Given the description of an element on the screen output the (x, y) to click on. 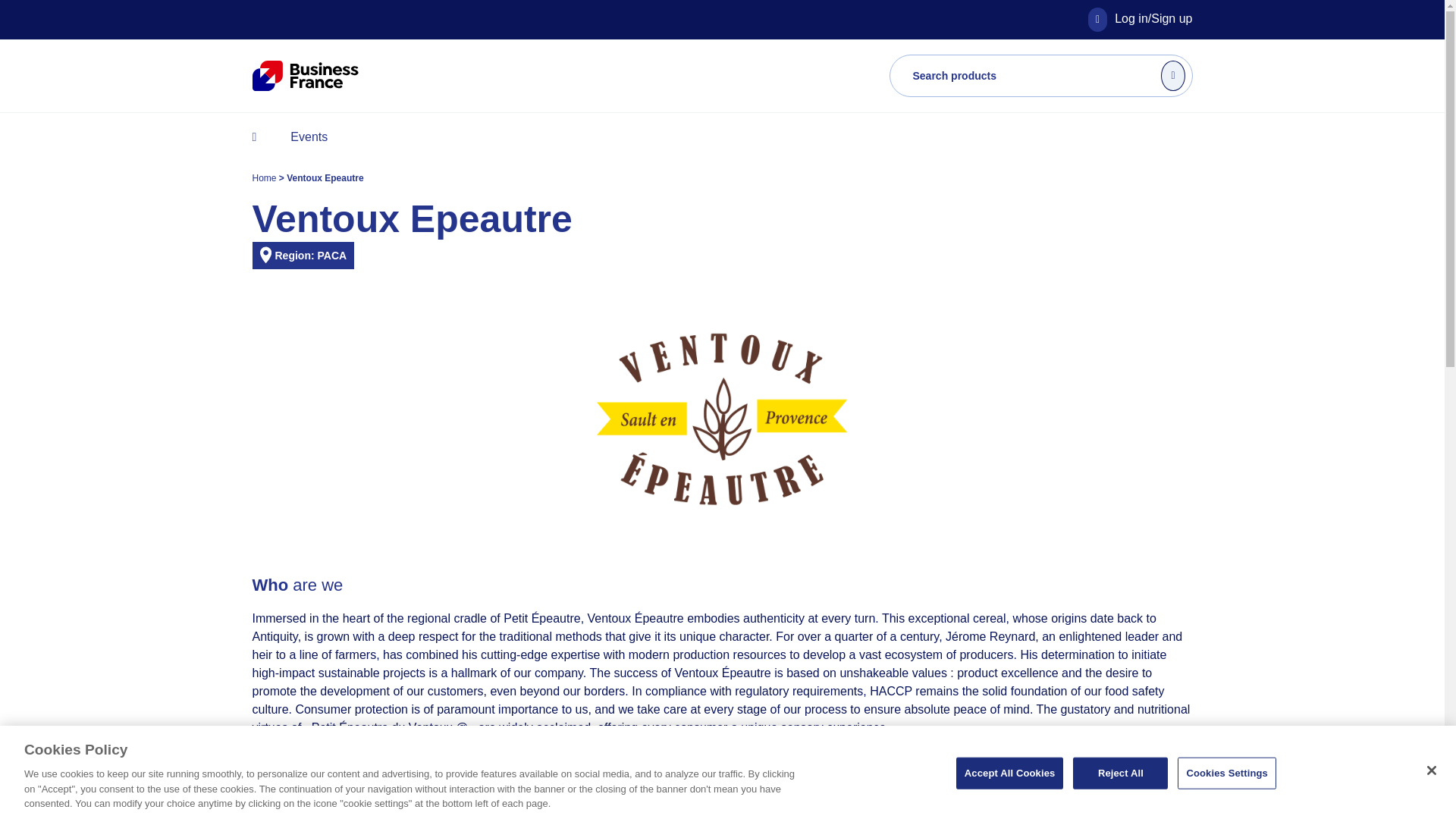
Events (308, 136)
Home (264, 177)
Home (264, 177)
